Given the description of an element on the screen output the (x, y) to click on. 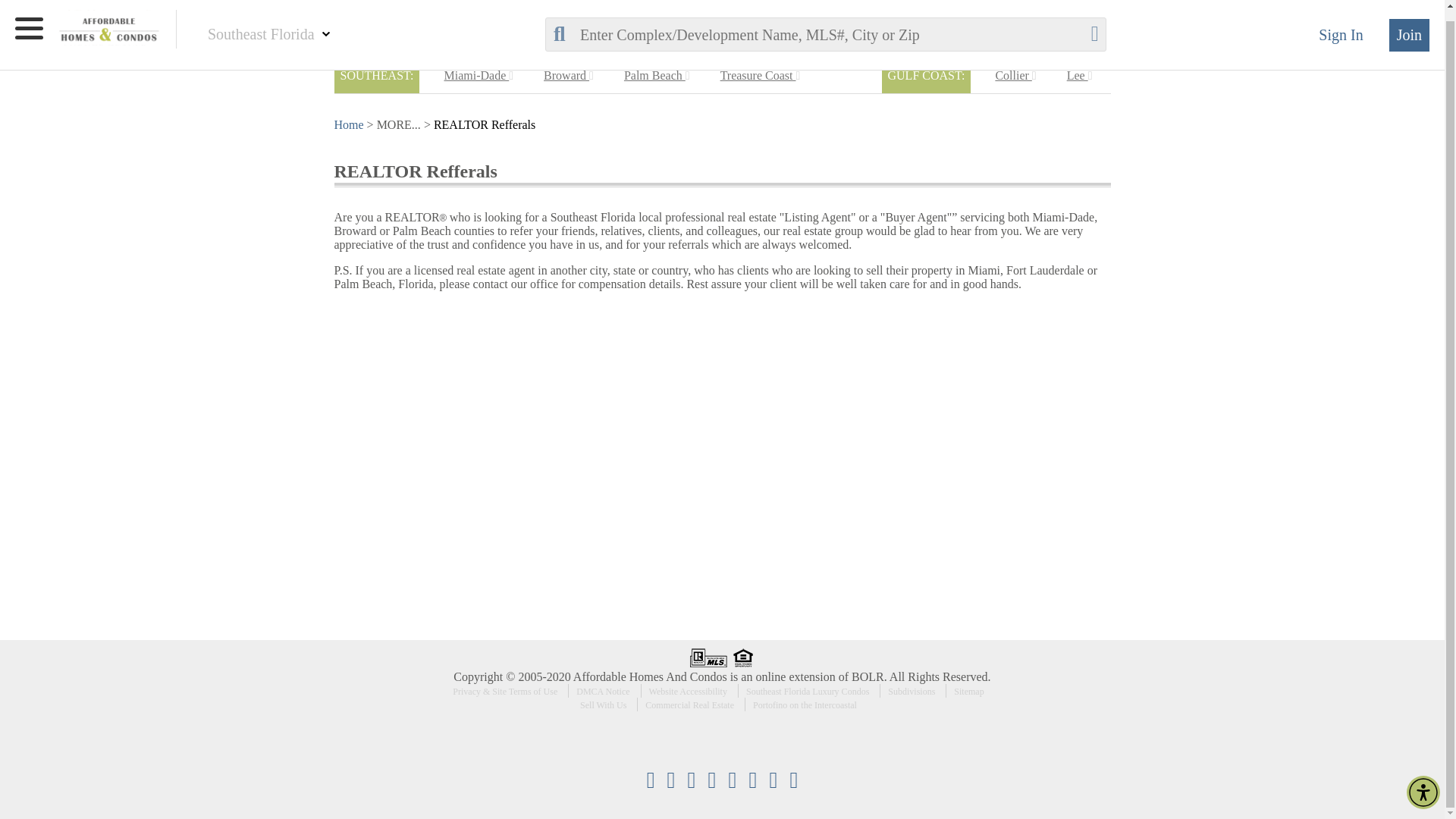
Sign In (1348, 24)
Sign In (1348, 24)
Southeast Florida (261, 23)
Accessibility Menu (1422, 781)
